Given the description of an element on the screen output the (x, y) to click on. 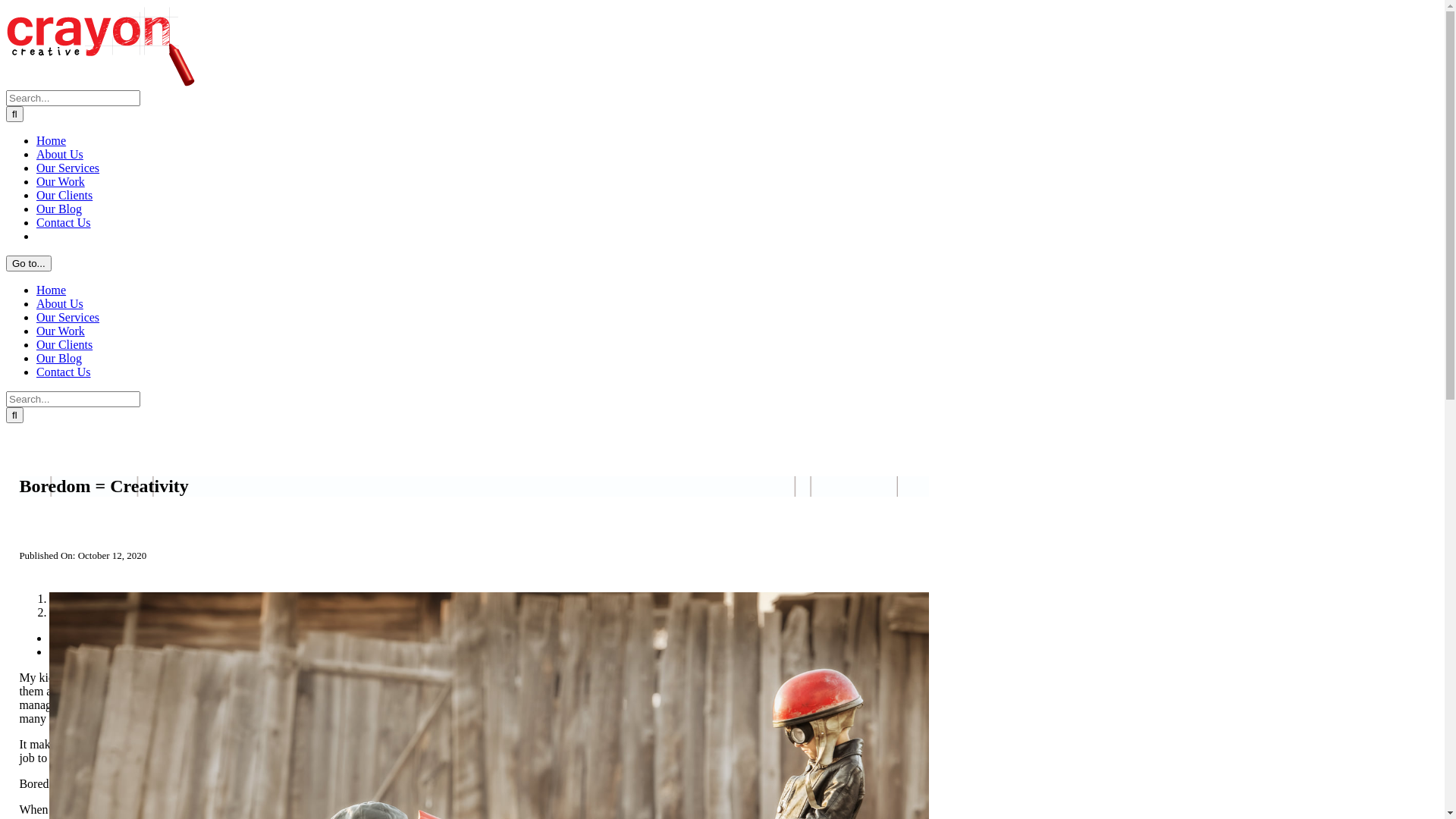
Our Work Element type: text (60, 330)
Go to... Element type: text (28, 263)
2 Element type: text (52, 611)
1 Element type: text (52, 598)
Our Work Element type: text (60, 181)
Our Services Element type: text (67, 316)
Our Blog Element type: text (58, 208)
Skip to content Element type: text (5, 5)
Our Clients Element type: text (64, 194)
Home Element type: text (50, 289)
Home Element type: text (50, 140)
About Us Element type: text (59, 153)
Contact Us Element type: text (63, 371)
Our Blog Element type: text (58, 357)
Contact Us Element type: text (63, 222)
Our Clients Element type: text (64, 344)
Our Services Element type: text (67, 167)
About Us Element type: text (59, 303)
